Given the description of an element on the screen output the (x, y) to click on. 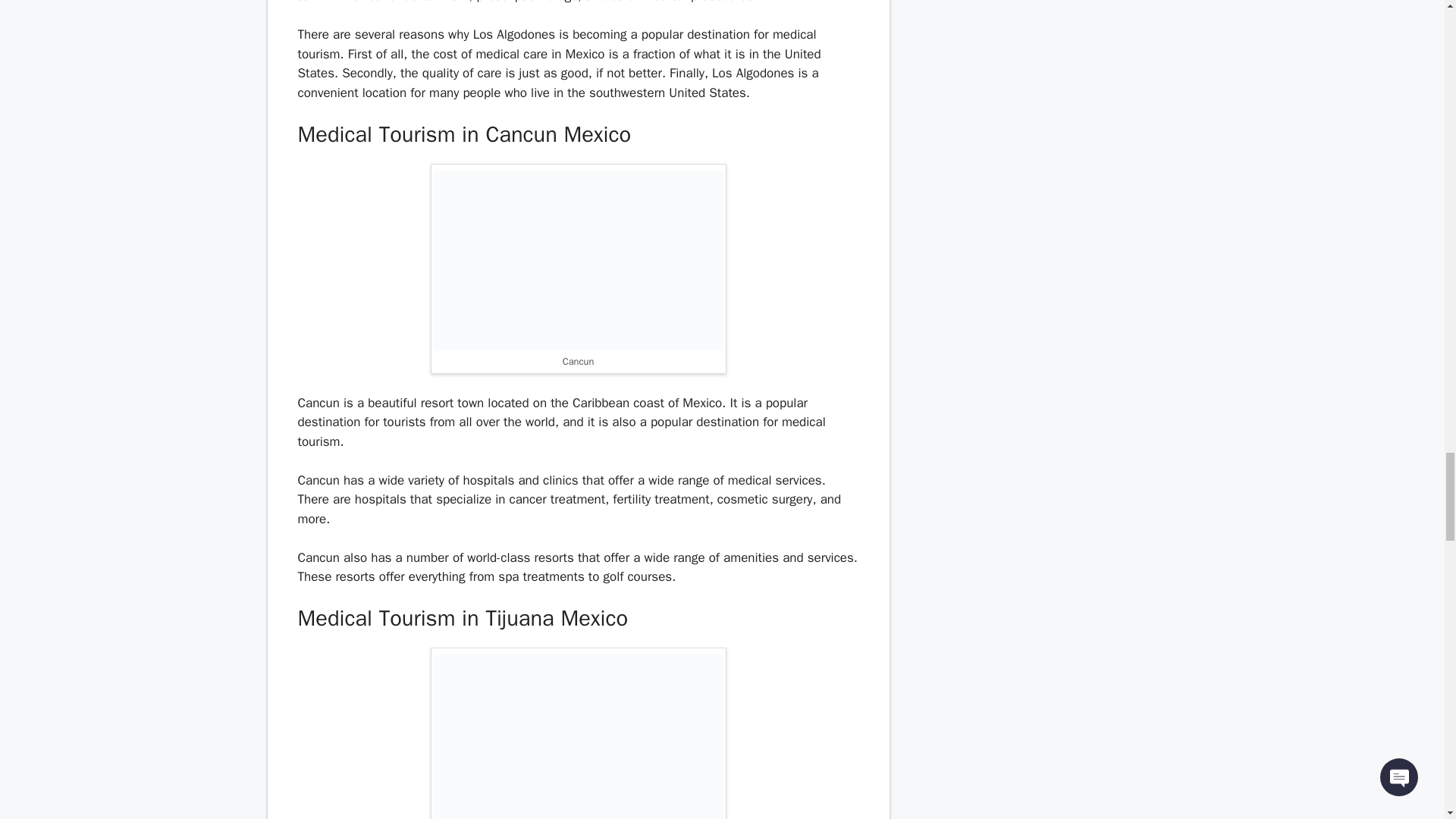
Tijuana (578, 736)
Cancun (578, 261)
